Given the description of an element on the screen output the (x, y) to click on. 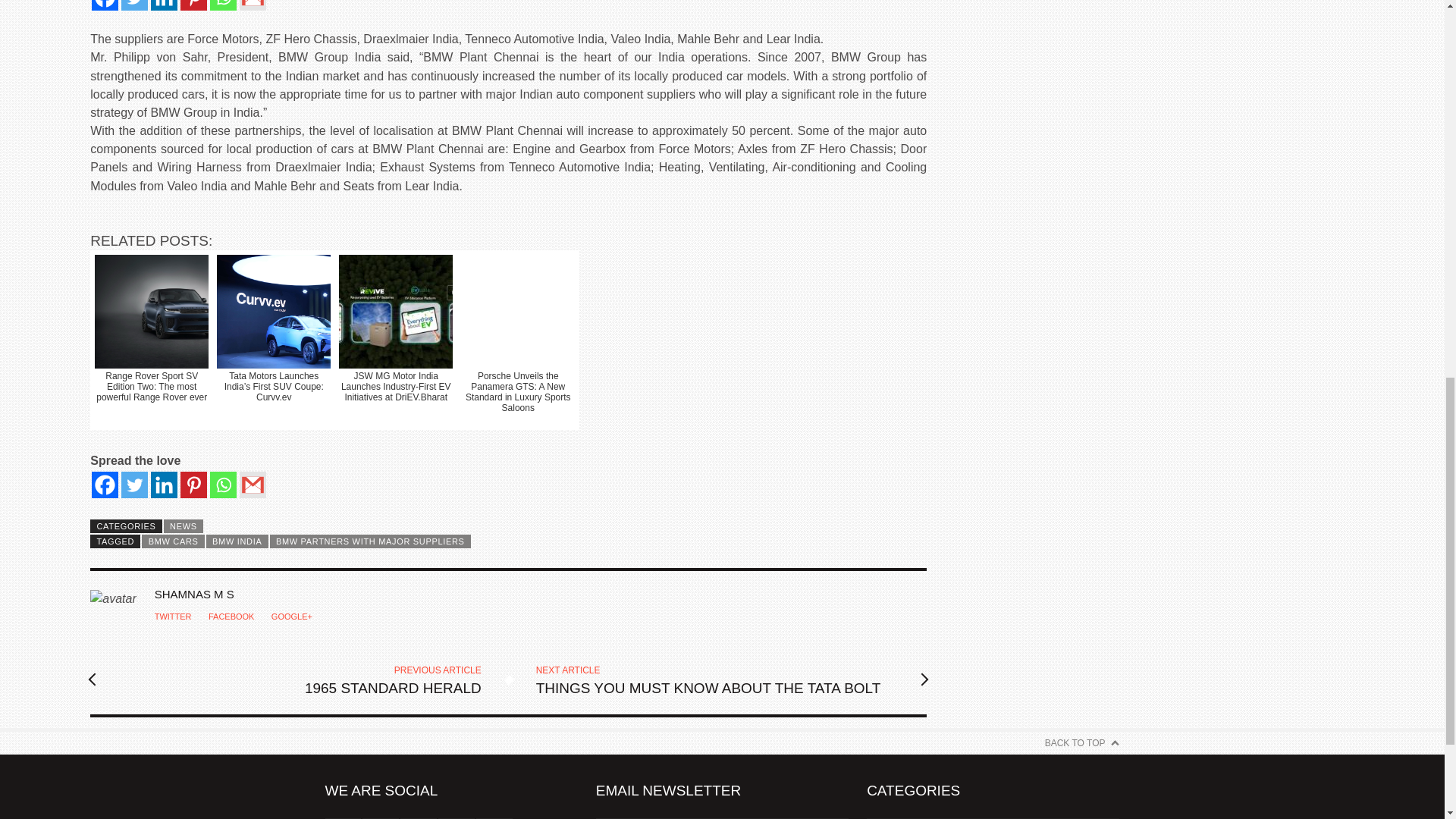
Facebook (104, 5)
View all posts tagged BMW partners with major suppliers (369, 540)
Pinterest (193, 5)
Google Gmail (253, 5)
View all posts tagged BMW India (236, 540)
Pinterest (193, 484)
Facebook (104, 484)
Google Gmail (253, 484)
View all posts in News (183, 526)
View all posts tagged BMW Cars (172, 540)
